Given the description of an element on the screen output the (x, y) to click on. 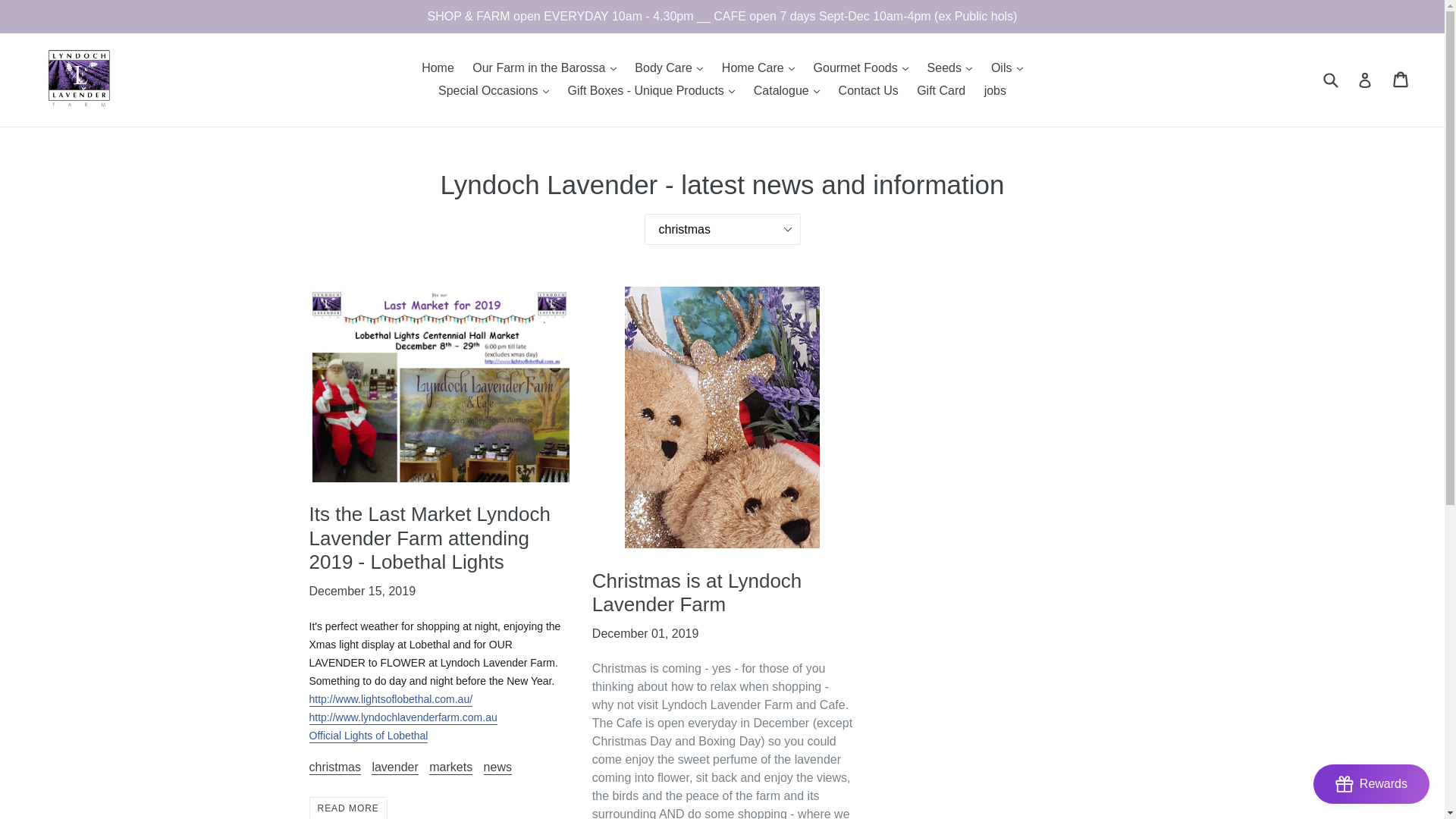
news Element type: text (497, 767)
Home Element type: text (437, 67)
christmas Element type: text (334, 767)
Gift Card Element type: text (940, 90)
Cart
Cart Element type: text (1401, 79)
Christmas is at Lyndoch Lavender Farm Element type: text (696, 592)
Log in Element type: text (1364, 79)
lavender Element type: text (394, 767)
Contact Us Element type: text (868, 90)
jobs Element type: text (994, 90)
Official Lights of Lobethal Element type: text (368, 736)
markets Element type: text (450, 767)
http://www.lightsoflobethal.com.au/ Element type: text (391, 699)
Rewards Element type: text (1371, 783)
Submit Element type: text (1329, 79)
http://www.lyndochlavenderfarm.com.au Element type: text (403, 717)
